Given the description of an element on the screen output the (x, y) to click on. 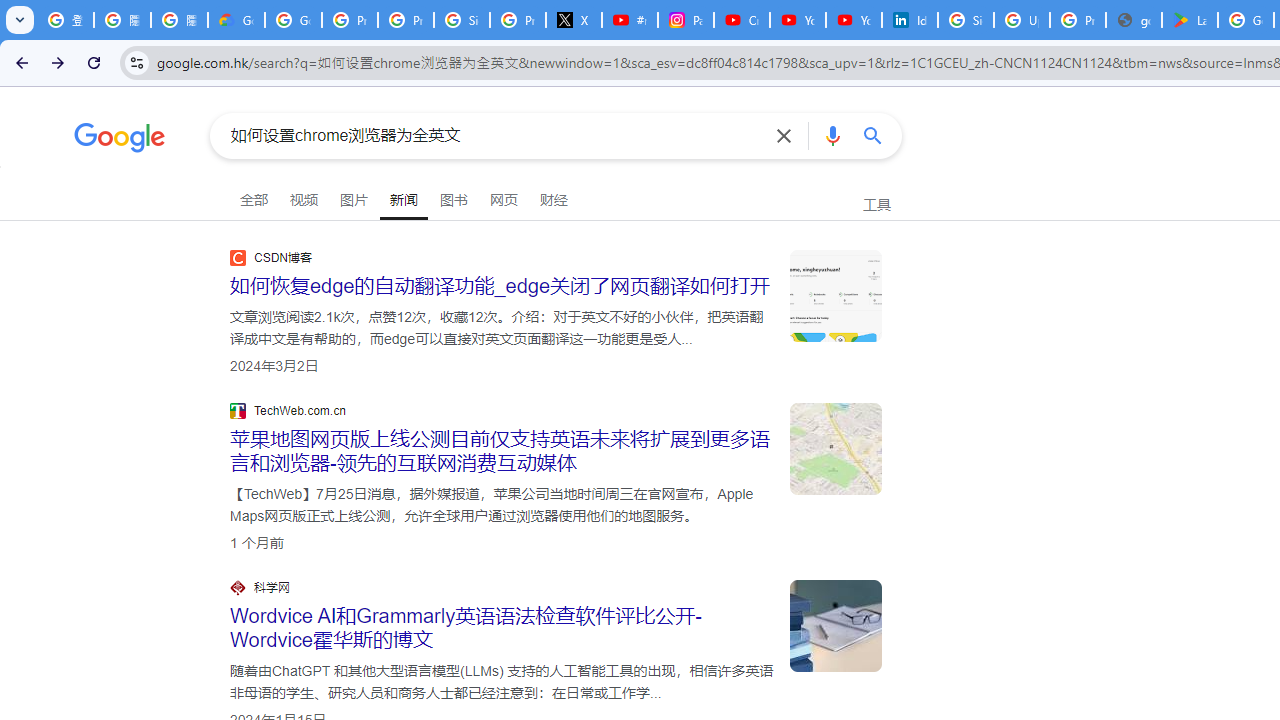
#nbabasketballhighlights - YouTube (629, 20)
Sign in - Google Accounts (461, 20)
